Given the description of an element on the screen output the (x, y) to click on. 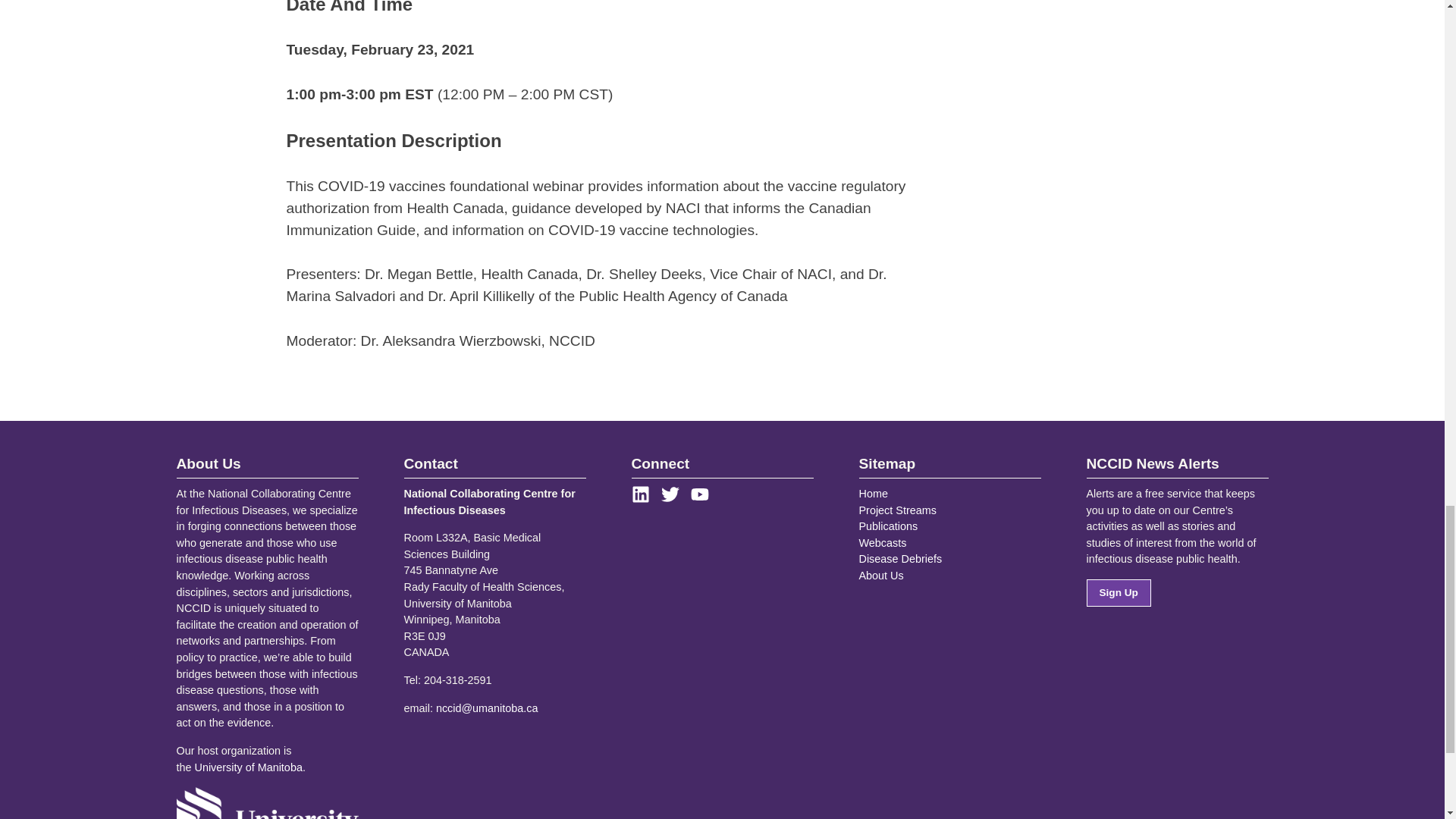
Home (872, 493)
University of Manitoba (248, 767)
Webcasts (882, 542)
Publications (888, 526)
Disease Debriefs (900, 558)
Project Streams (897, 509)
